Given the description of an element on the screen output the (x, y) to click on. 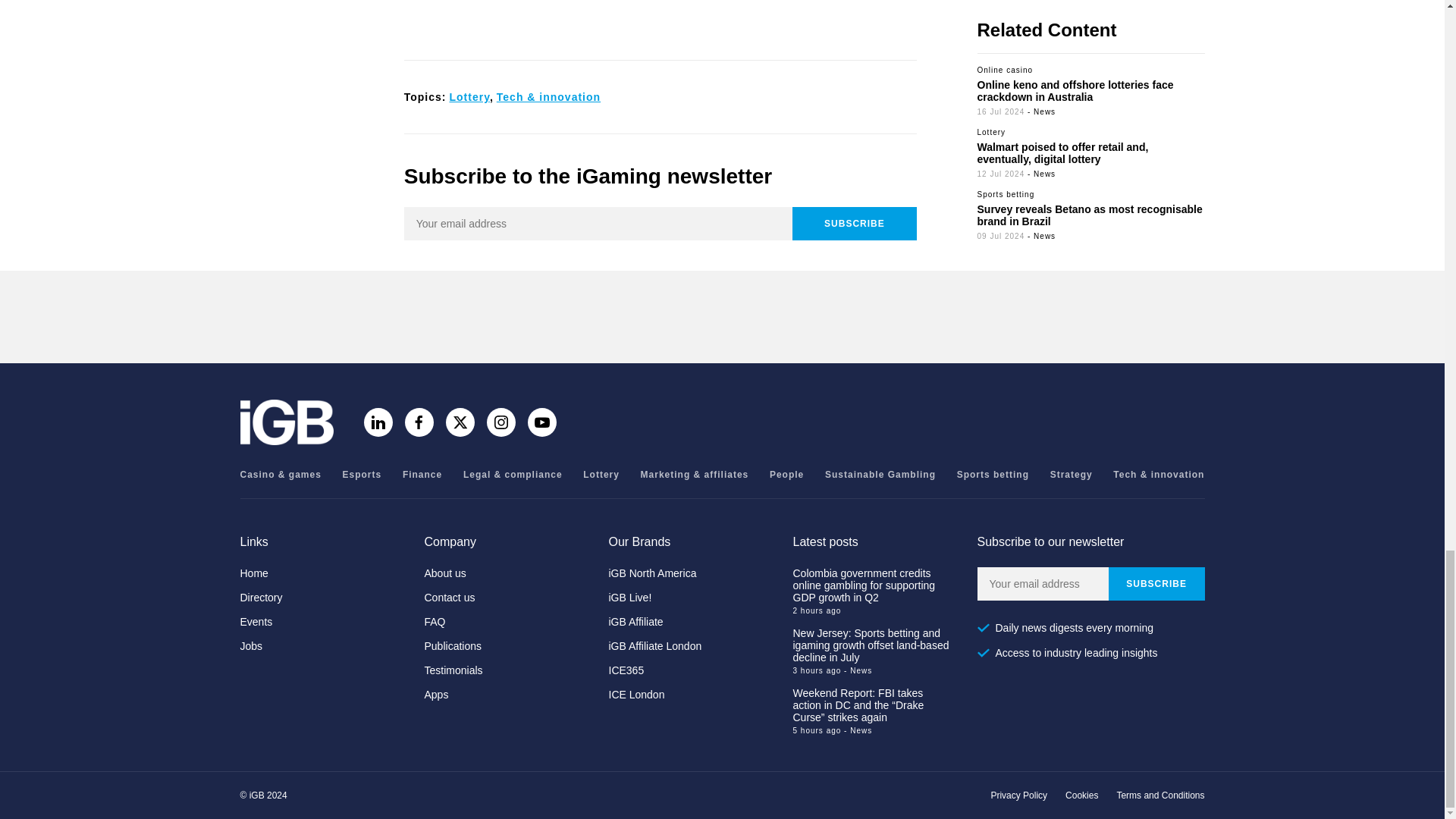
Subscribe (1156, 583)
3rd party ad content (721, 316)
3rd party ad content (659, 18)
Subscribe (853, 223)
